Given the description of an element on the screen output the (x, y) to click on. 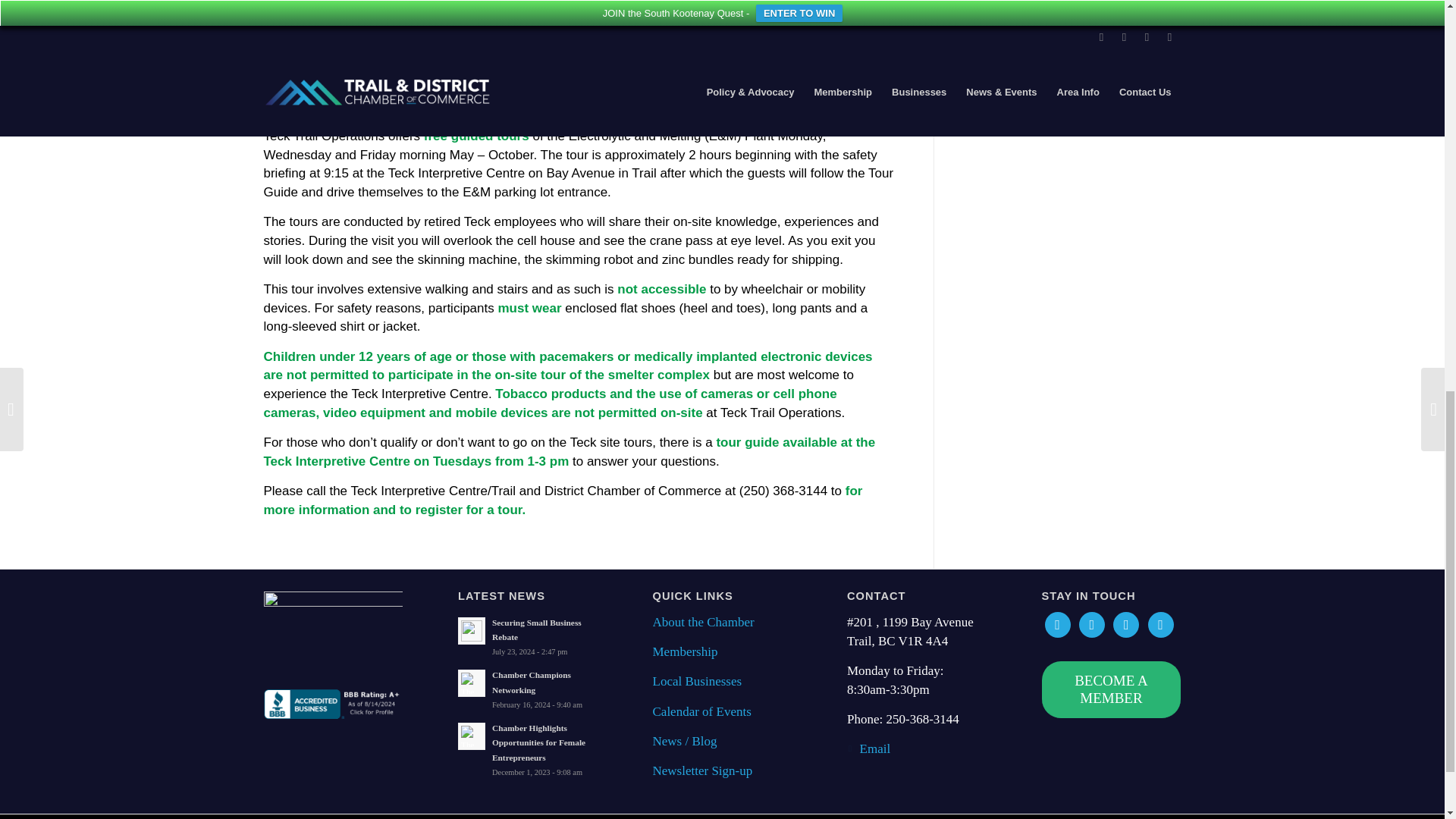
Securing Small Business Rebate (527, 637)
Chamber Highlights Opportunities for Female Entrepreneurs (527, 749)
Chamber Champions Networking (527, 688)
Facebook (1057, 623)
